Given the description of an element on the screen output the (x, y) to click on. 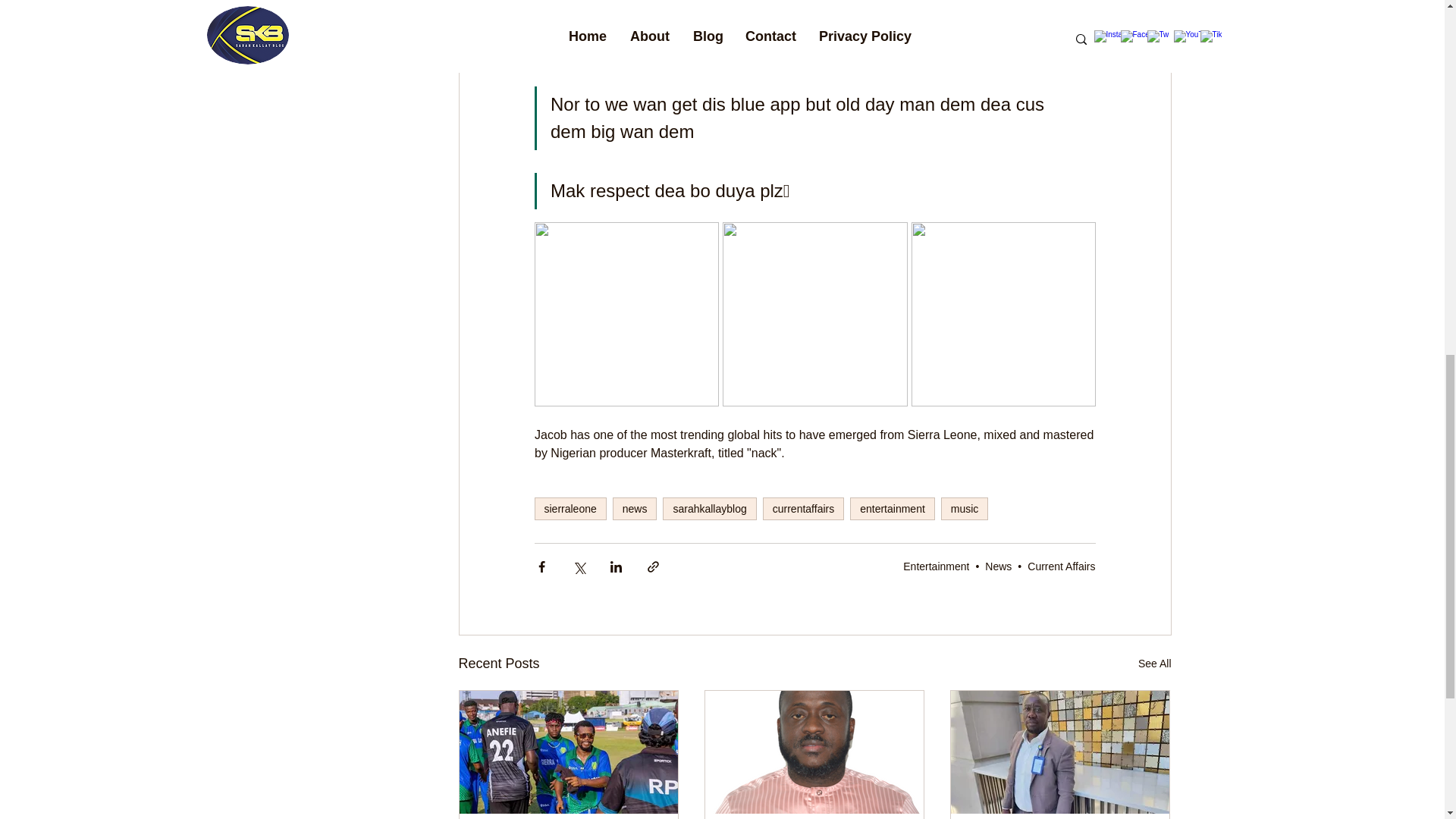
sierraleone (569, 508)
news (635, 508)
sarahkallayblog (708, 508)
